Given the description of an element on the screen output the (x, y) to click on. 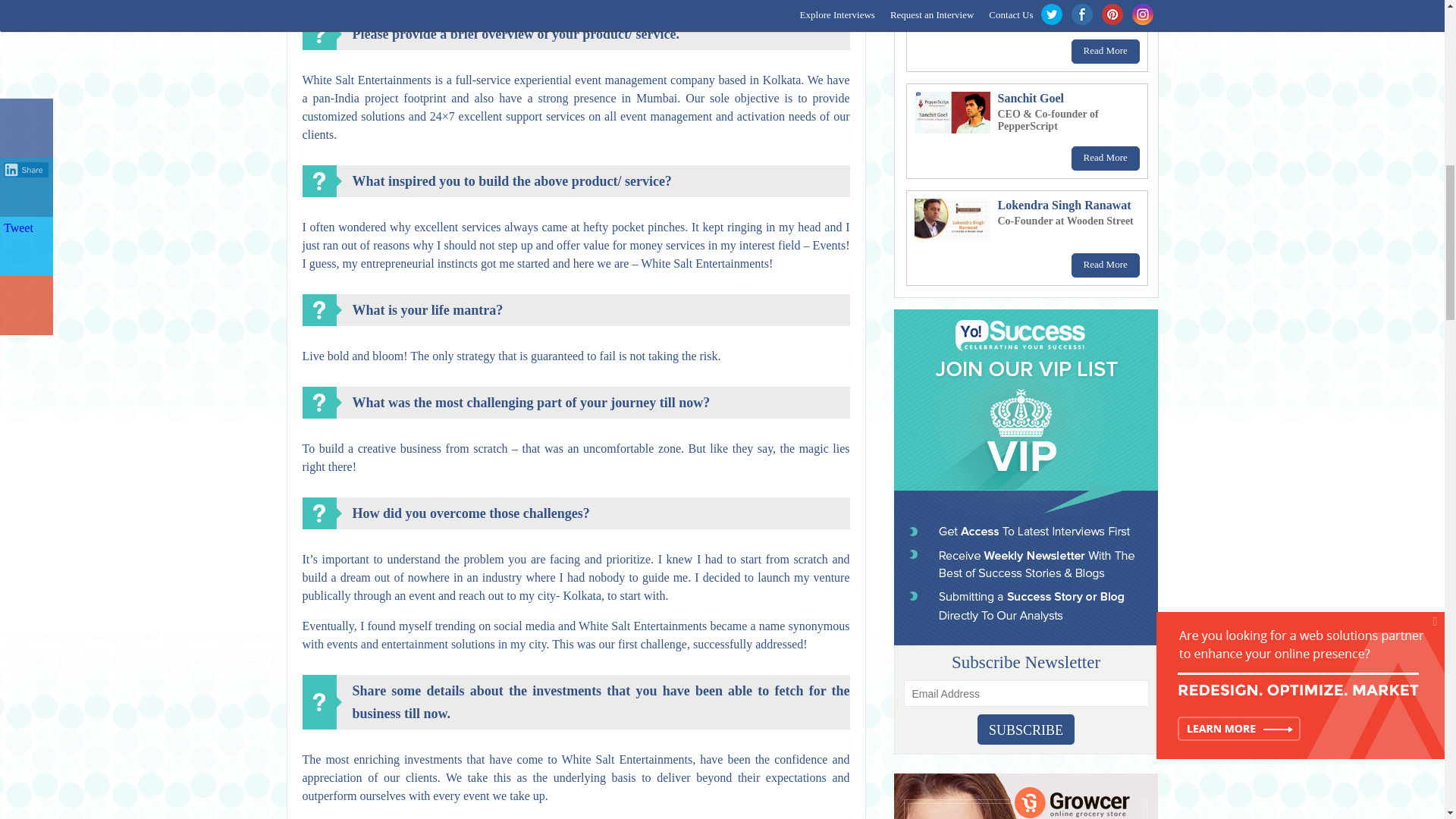
Subscribe (1025, 729)
